Given the description of an element on the screen output the (x, y) to click on. 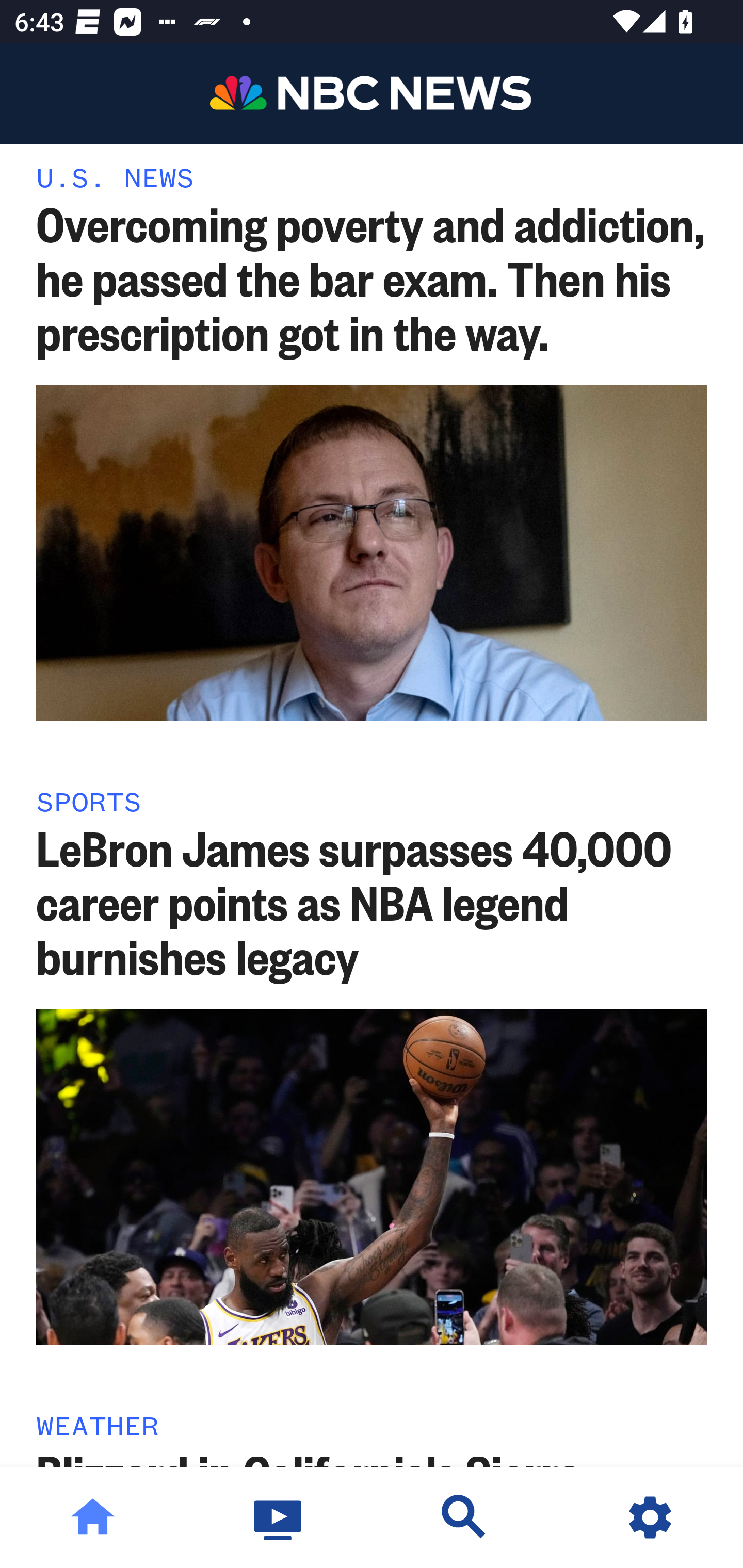
Watch (278, 1517)
Discover (464, 1517)
Settings (650, 1517)
